Given the description of an element on the screen output the (x, y) to click on. 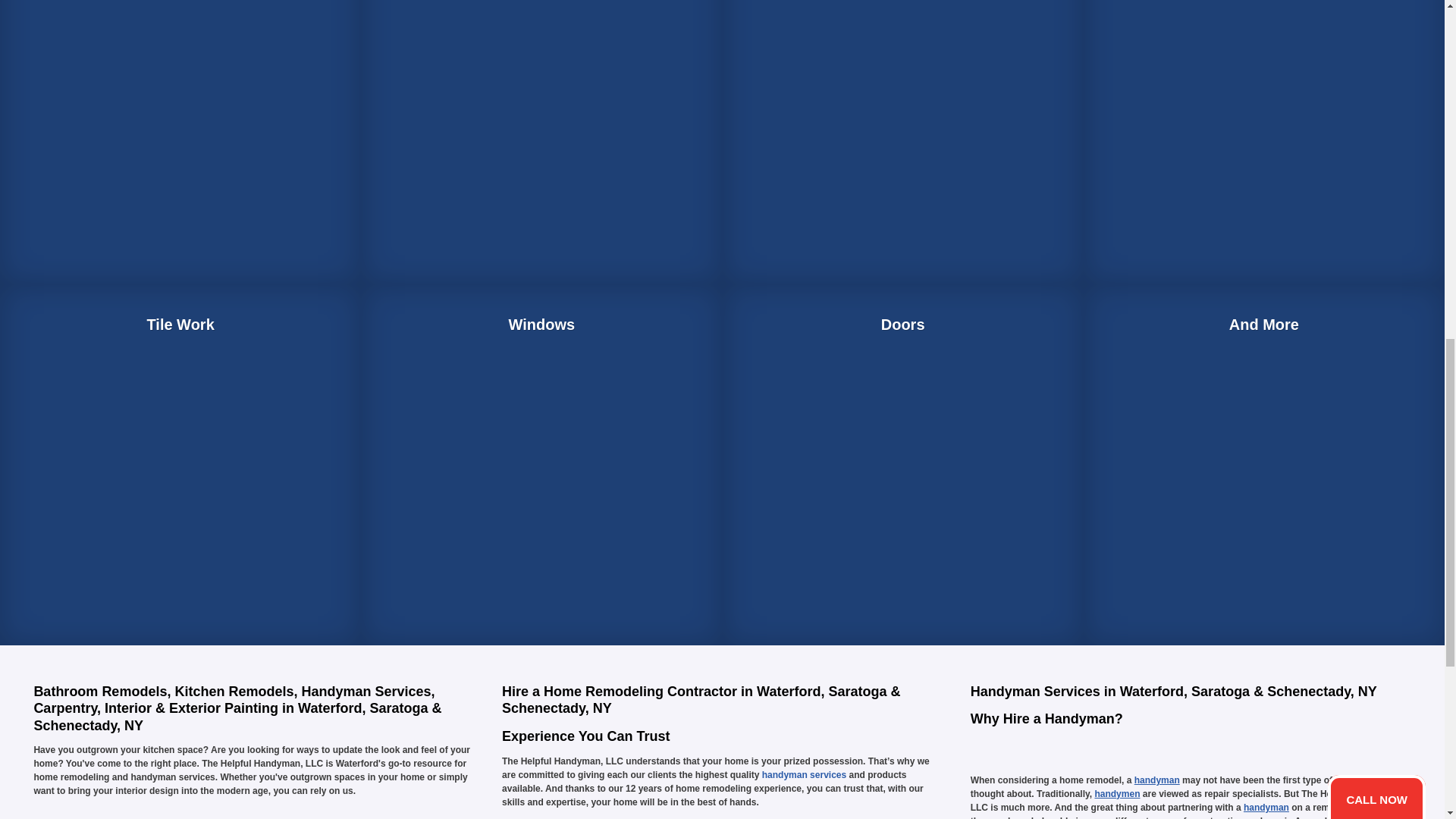
Tile Work (180, 324)
